Given the description of an element on the screen output the (x, y) to click on. 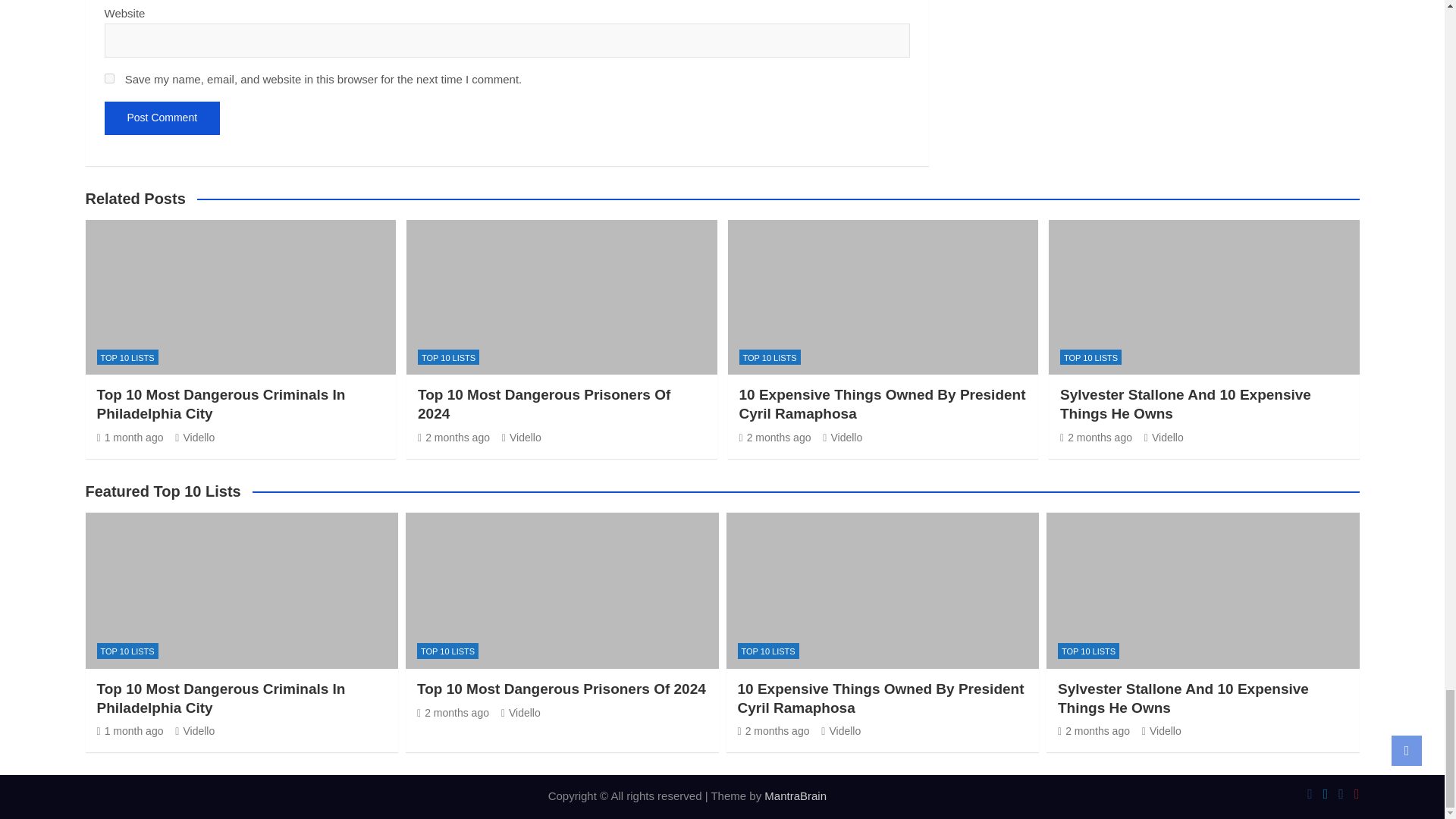
Top 10 Most Dangerous Prisoners Of 2024 (453, 437)
10 Expensive Things Owned By President Cyril Ramaphosa (774, 437)
Top 10 Most Dangerous Criminals In Philadelphia City (130, 730)
Top 10 Most Dangerous Criminals In Philadelphia City (130, 437)
Sylvester Stallone And 10 Expensive Things He Owns (1093, 730)
Top 10 Most Dangerous Prisoners Of 2024 (452, 712)
yes (109, 78)
Post Comment (162, 118)
10 Expensive Things Owned By President Cyril Ramaphosa (772, 730)
Sylvester Stallone And 10 Expensive Things He Owns (1095, 437)
MantraBrain (795, 795)
